Given the description of an element on the screen output the (x, y) to click on. 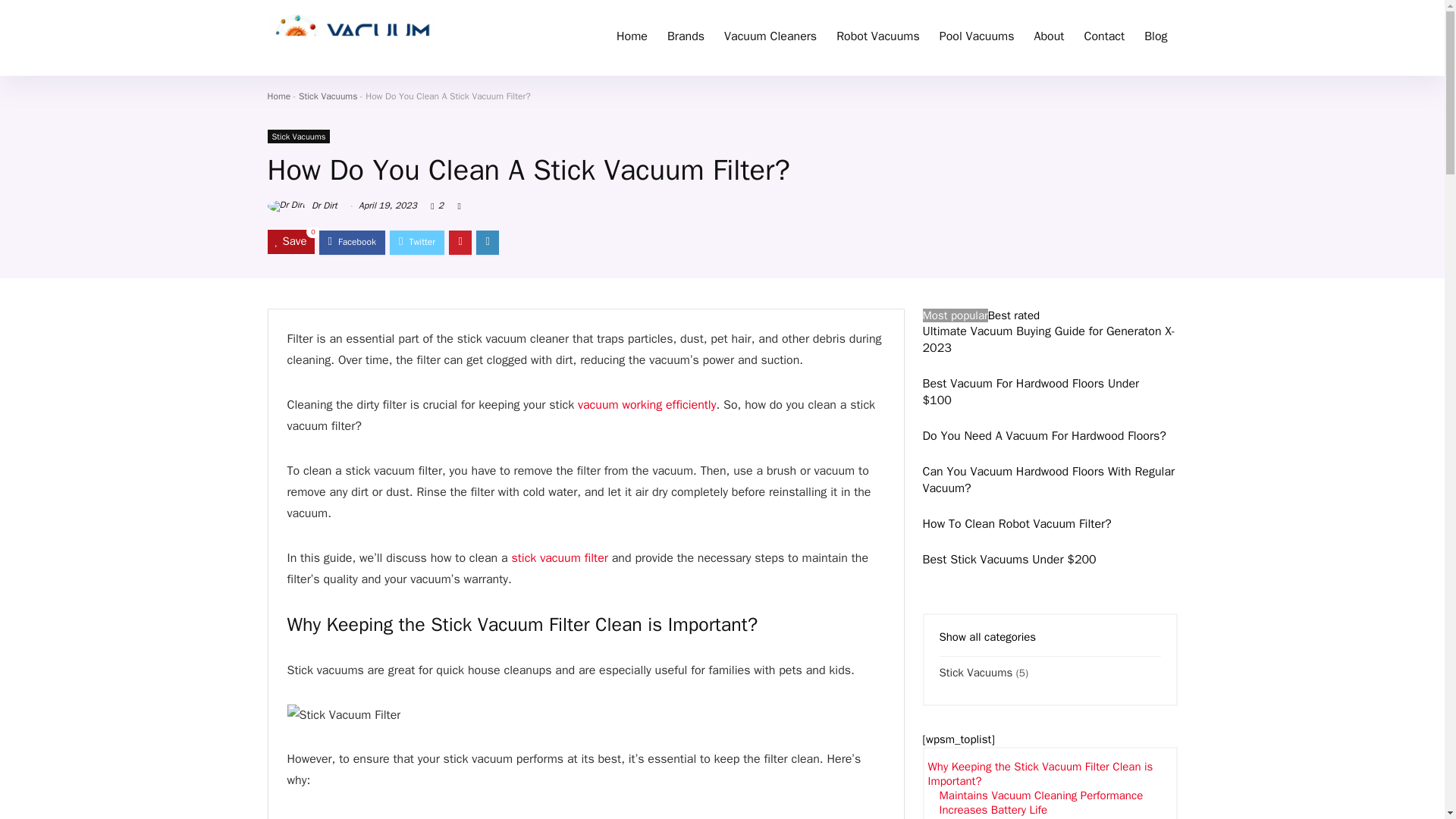
Dr Dirt (301, 205)
Blog (1155, 37)
View all posts in Stick Vacuums (298, 136)
vacuum working efficiently (647, 404)
Vacuum Cleaners (770, 37)
About (1049, 37)
stick vacuum filter (559, 557)
Contact (1104, 37)
Stick Vacuums (298, 136)
Home (632, 37)
Robot Vacuums (878, 37)
Brands (686, 37)
Pool Vacuums (977, 37)
Stick Vacuums (327, 96)
Home (277, 96)
